Given the description of an element on the screen output the (x, y) to click on. 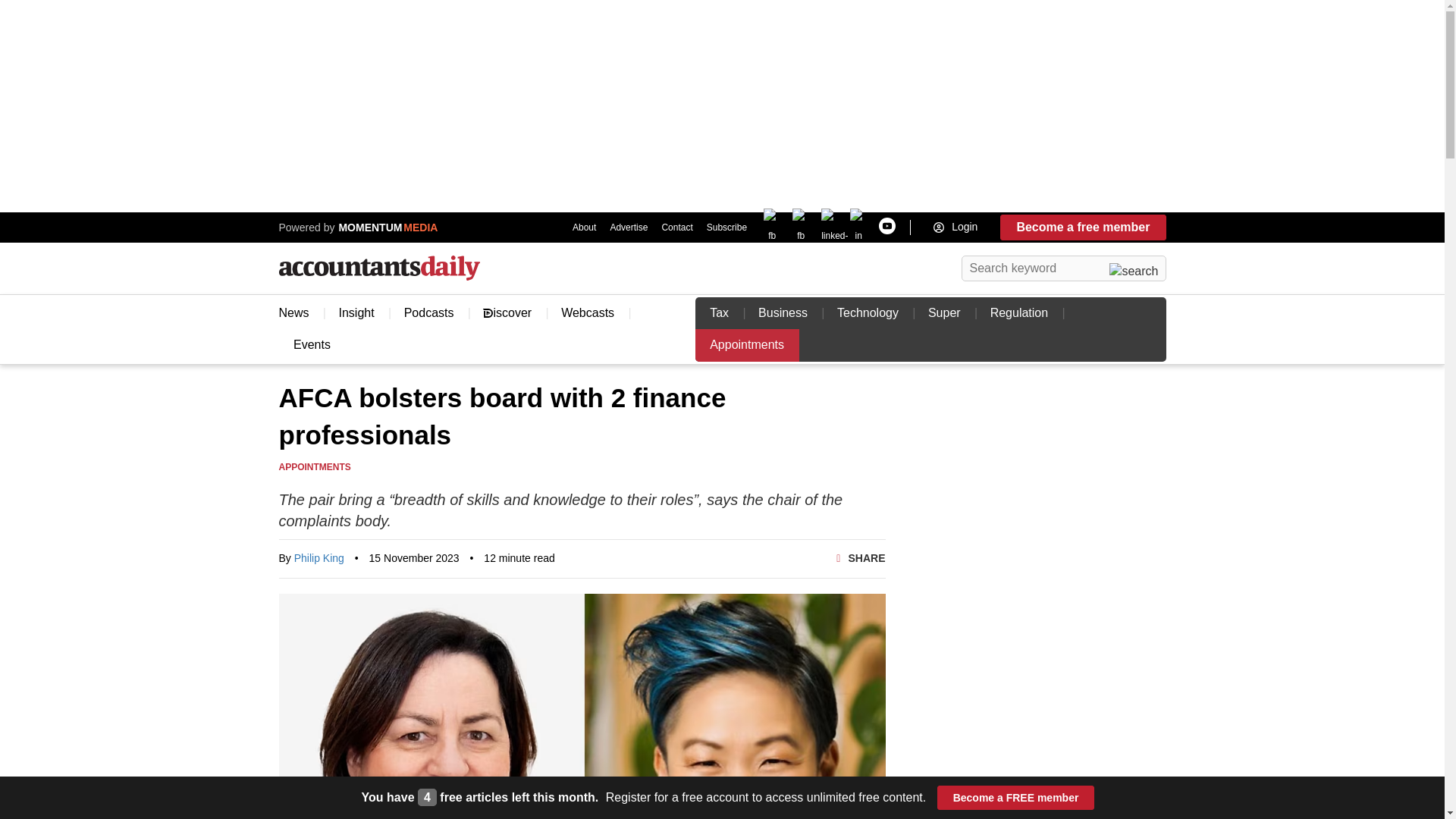
MOMENTUM MEDIA (386, 227)
Become a free member (1083, 227)
View all articles from Philip King (318, 558)
Become a FREE member (1015, 797)
Become a FREE member (1015, 797)
